Given the description of an element on the screen output the (x, y) to click on. 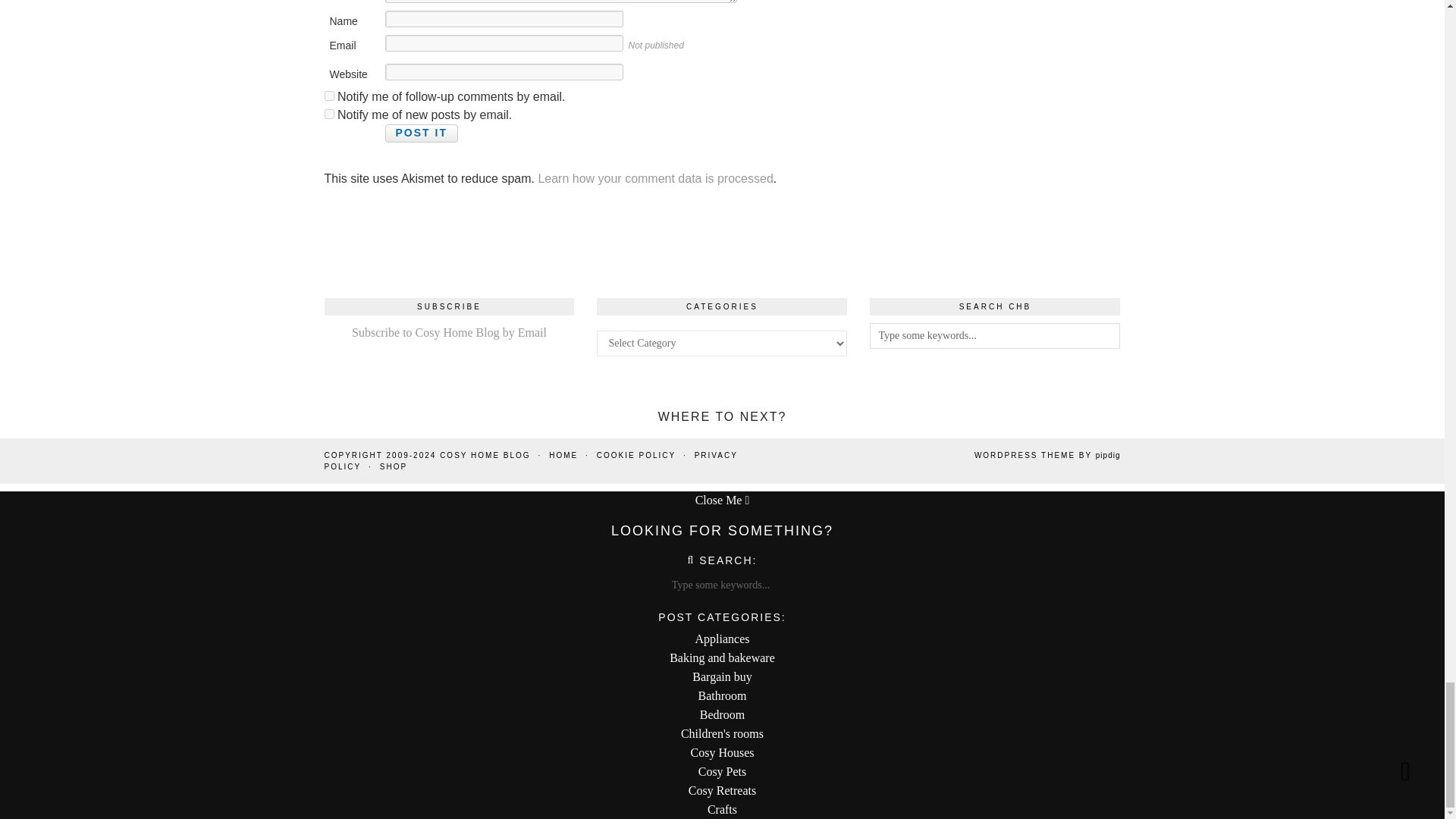
subscribe (329, 95)
Post It (421, 133)
subscribe (329, 113)
